Given the description of an element on the screen output the (x, y) to click on. 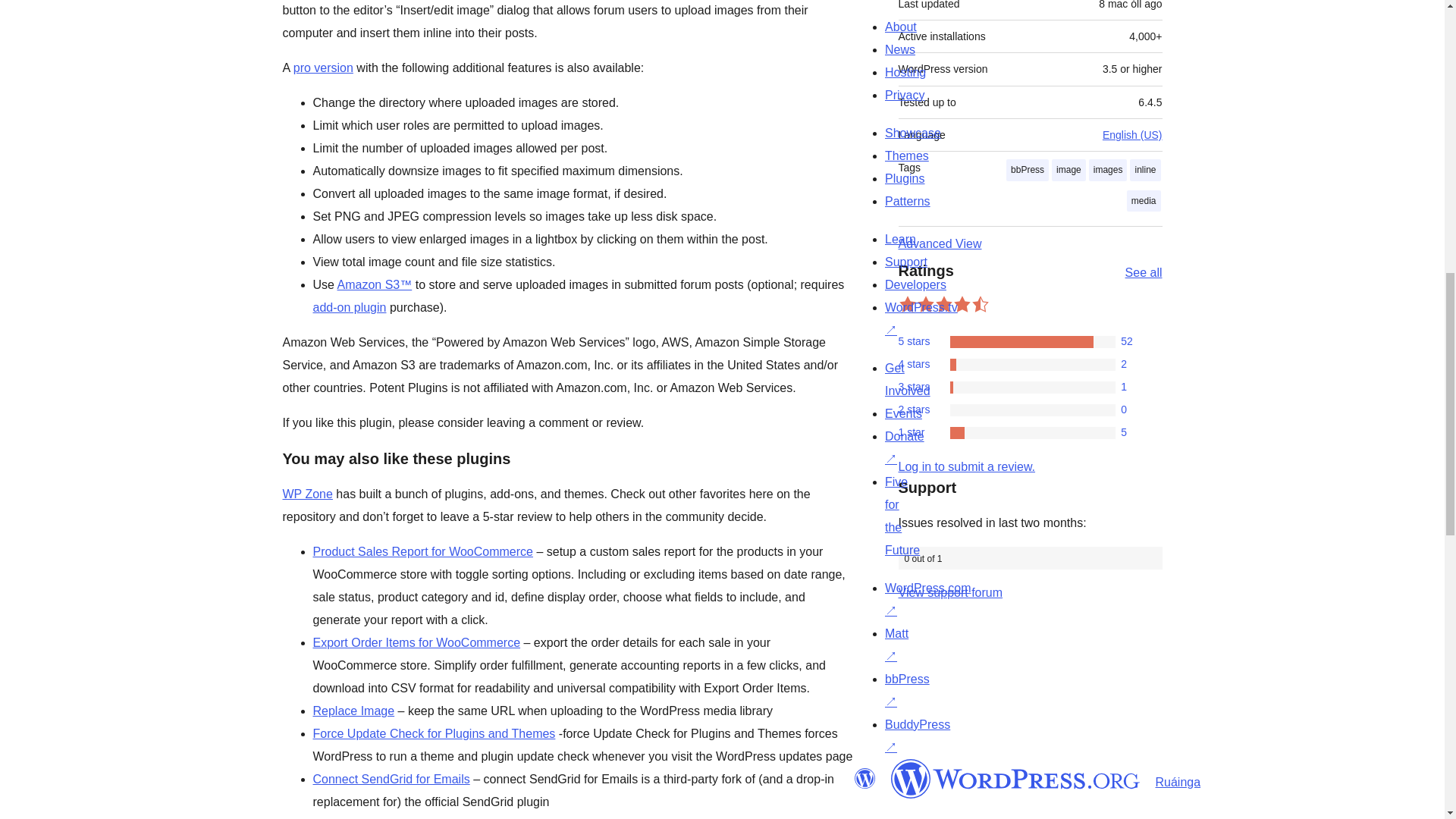
Replace Image (353, 710)
Export Order Items for WooCommerce (416, 642)
WordPress.org (864, 778)
WordPress.org (1014, 778)
Log in to WordPress.org (966, 466)
pro version (323, 67)
Force Update Check for Plugins and Themes (433, 733)
add-on plugin (349, 307)
Product Sales Report for WooCommerce (422, 551)
WP Zone (306, 493)
Connect SendGrid for Emails (390, 779)
